Given the description of an element on the screen output the (x, y) to click on. 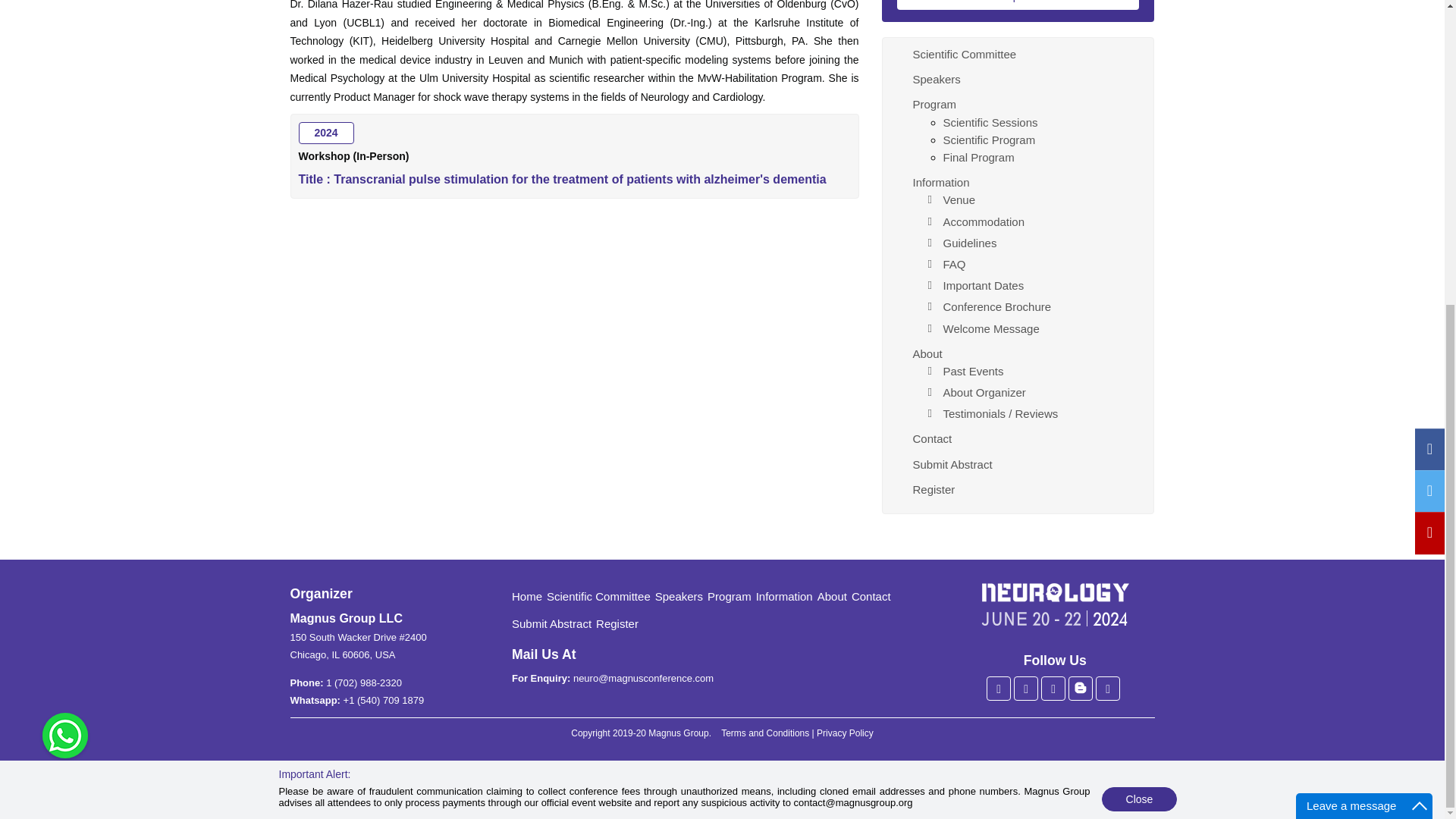
Maximize (1419, 328)
